Given the description of an element on the screen output the (x, y) to click on. 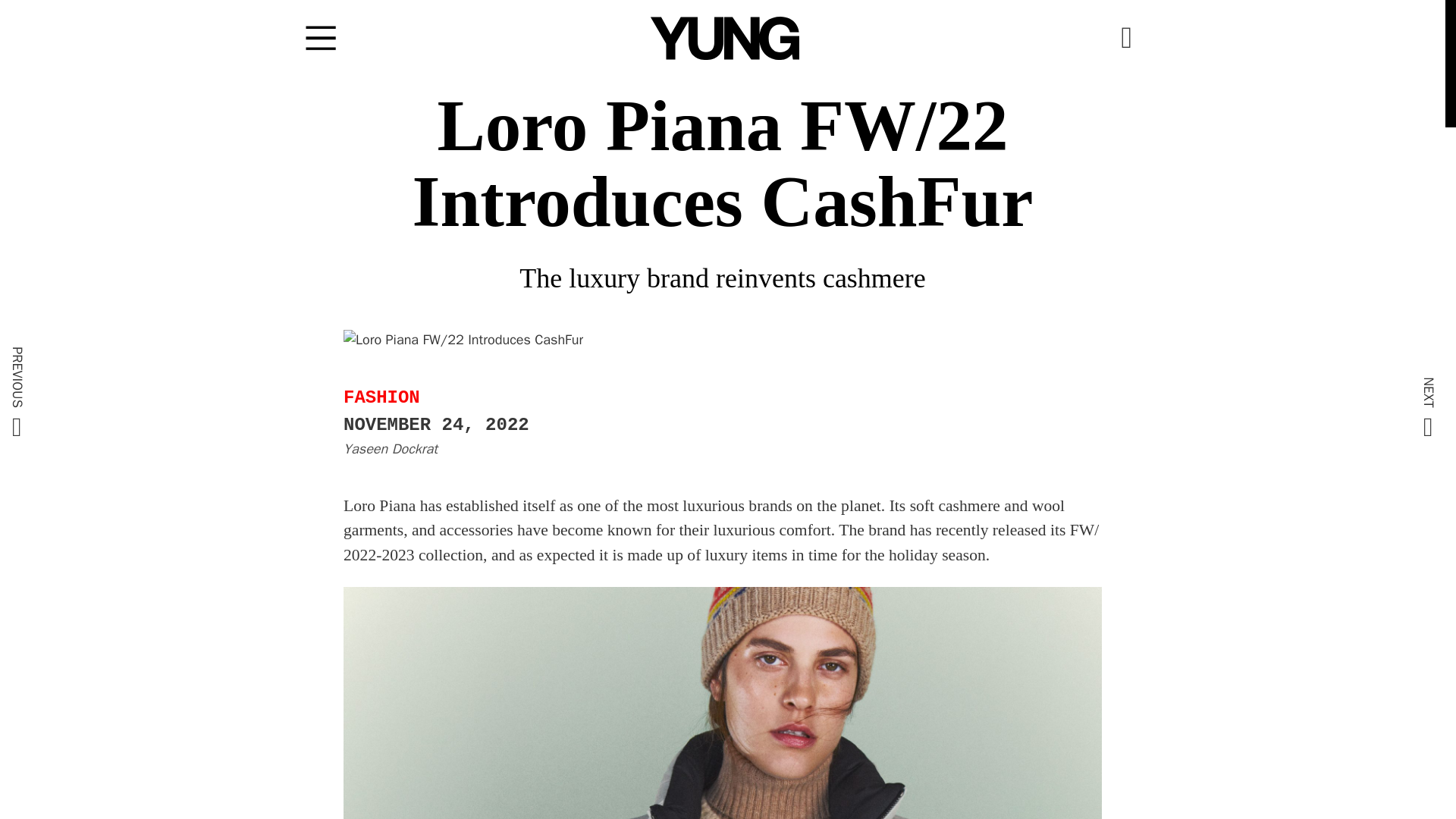
Search (874, 409)
FASHION (381, 397)
